Given the description of an element on the screen output the (x, y) to click on. 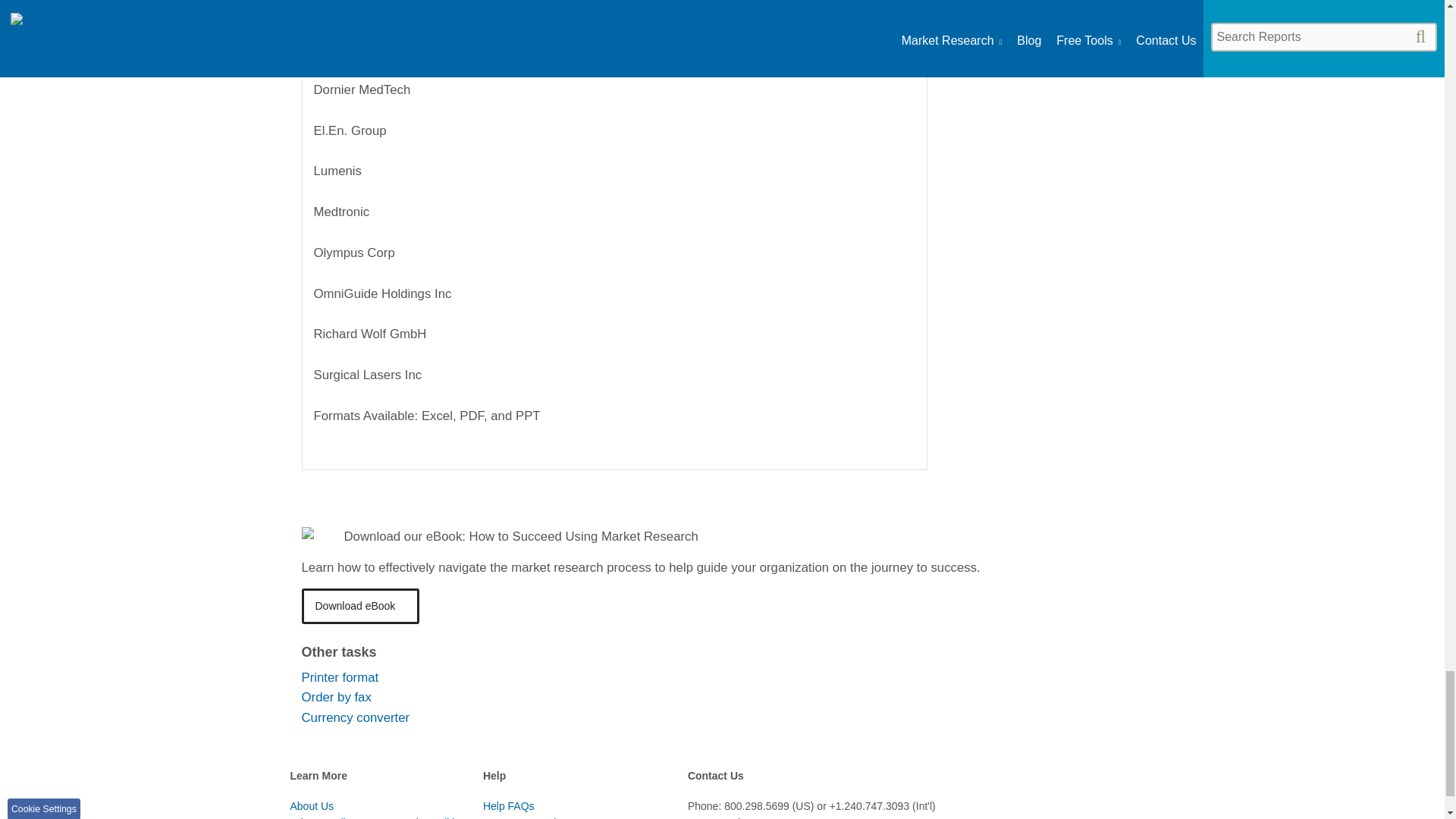
Download eBook (360, 606)
Printer format (339, 677)
